Given the description of an element on the screen output the (x, y) to click on. 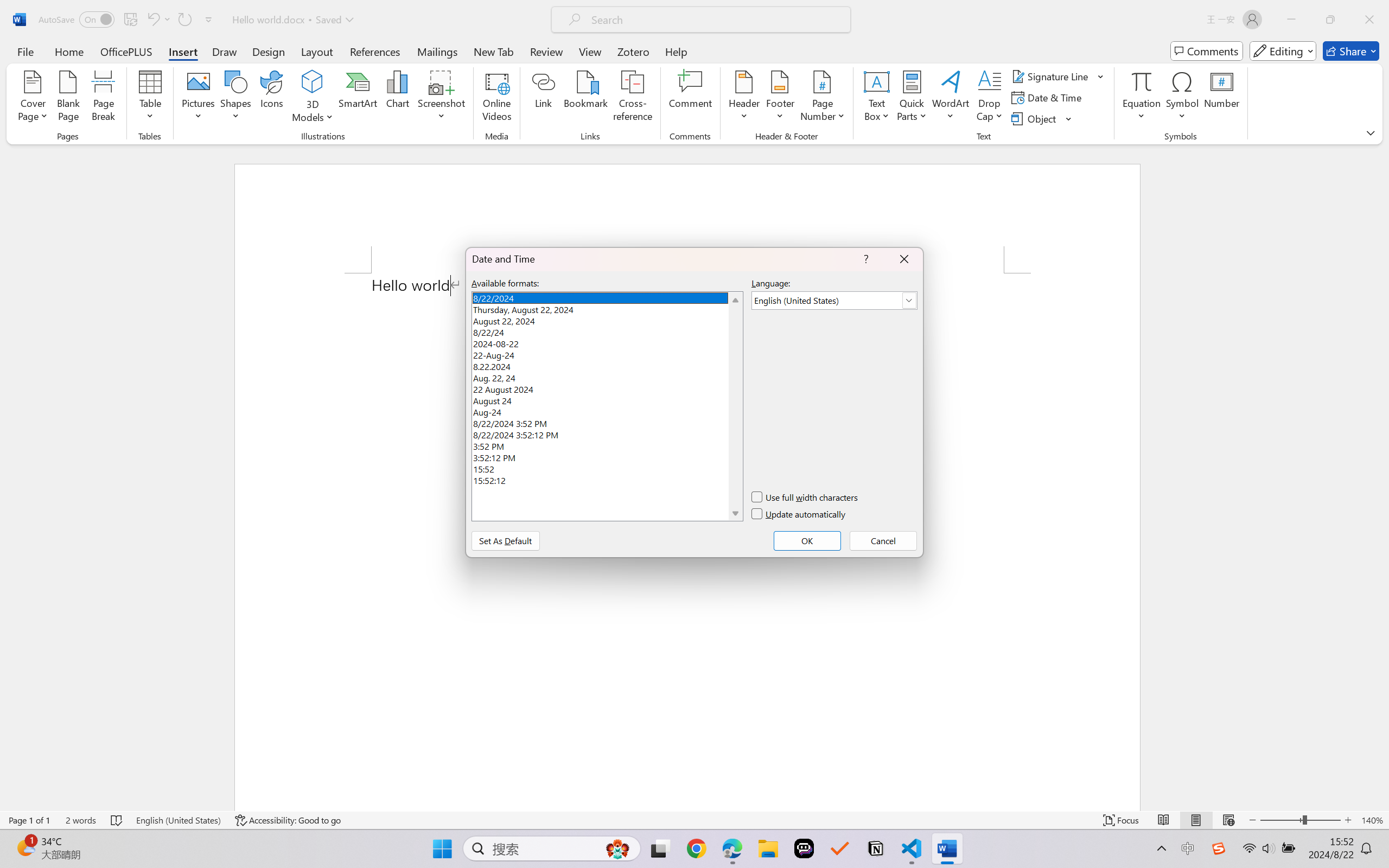
Restore Down (1330, 19)
Aug-24 (606, 410)
Symbol (1181, 97)
Class: NetUIScrollBar (1382, 477)
Zoom Out (1280, 819)
More Options (1141, 112)
Equation (1141, 97)
Zotero (632, 51)
Close (1369, 19)
8/22/24 (606, 330)
Object... (1042, 118)
